Given the description of an element on the screen output the (x, y) to click on. 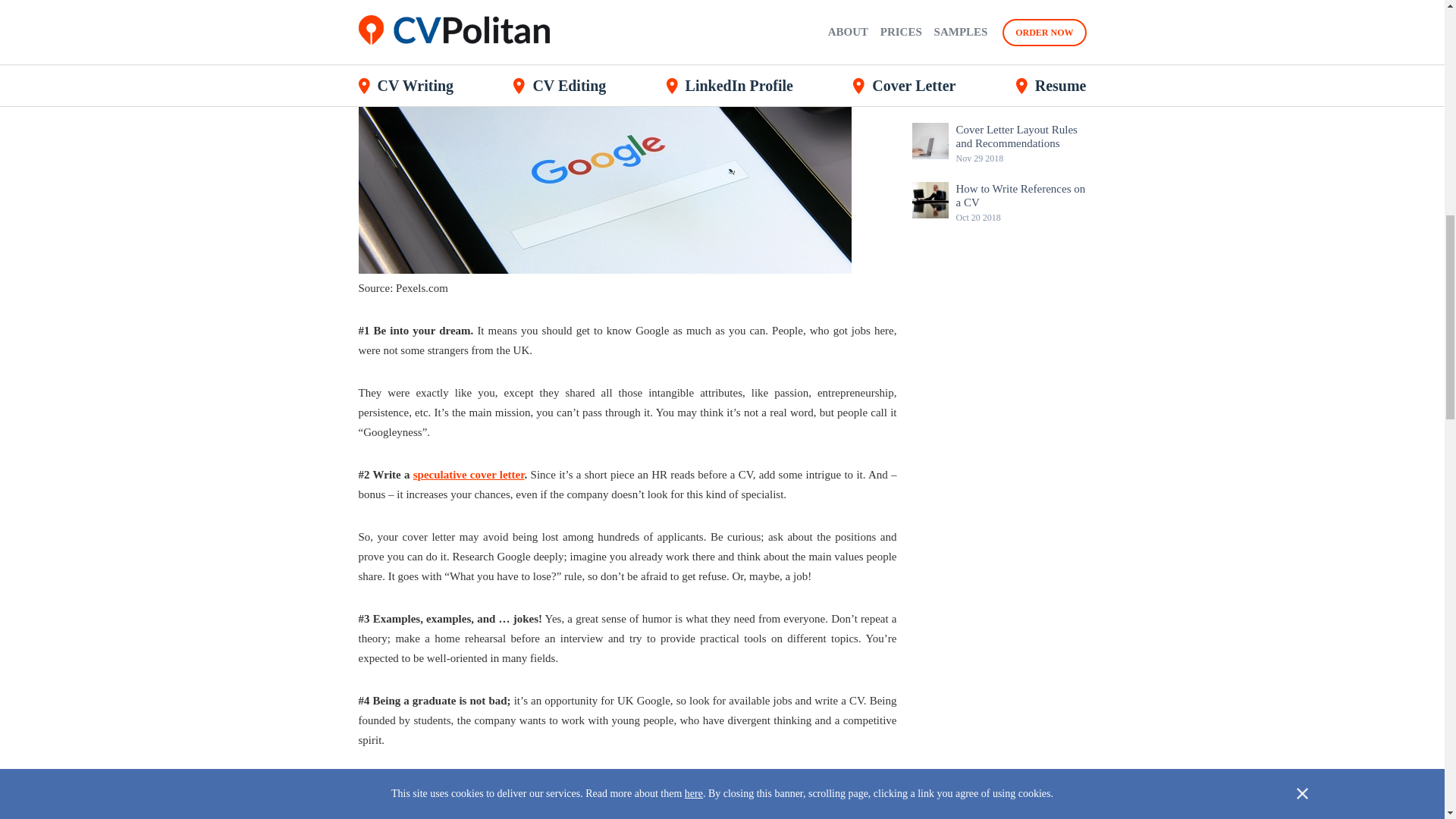
Speculative Cover Letter Writing Ideas and Tricks (468, 474)
Speculative Cover Letter: Is It Worth the Effort? (1020, 76)
speculative cover letter (468, 474)
Cover Letter Layout Rules and Recommendations (1020, 135)
How to Write References on a CV (1020, 195)
